Given the description of an element on the screen output the (x, y) to click on. 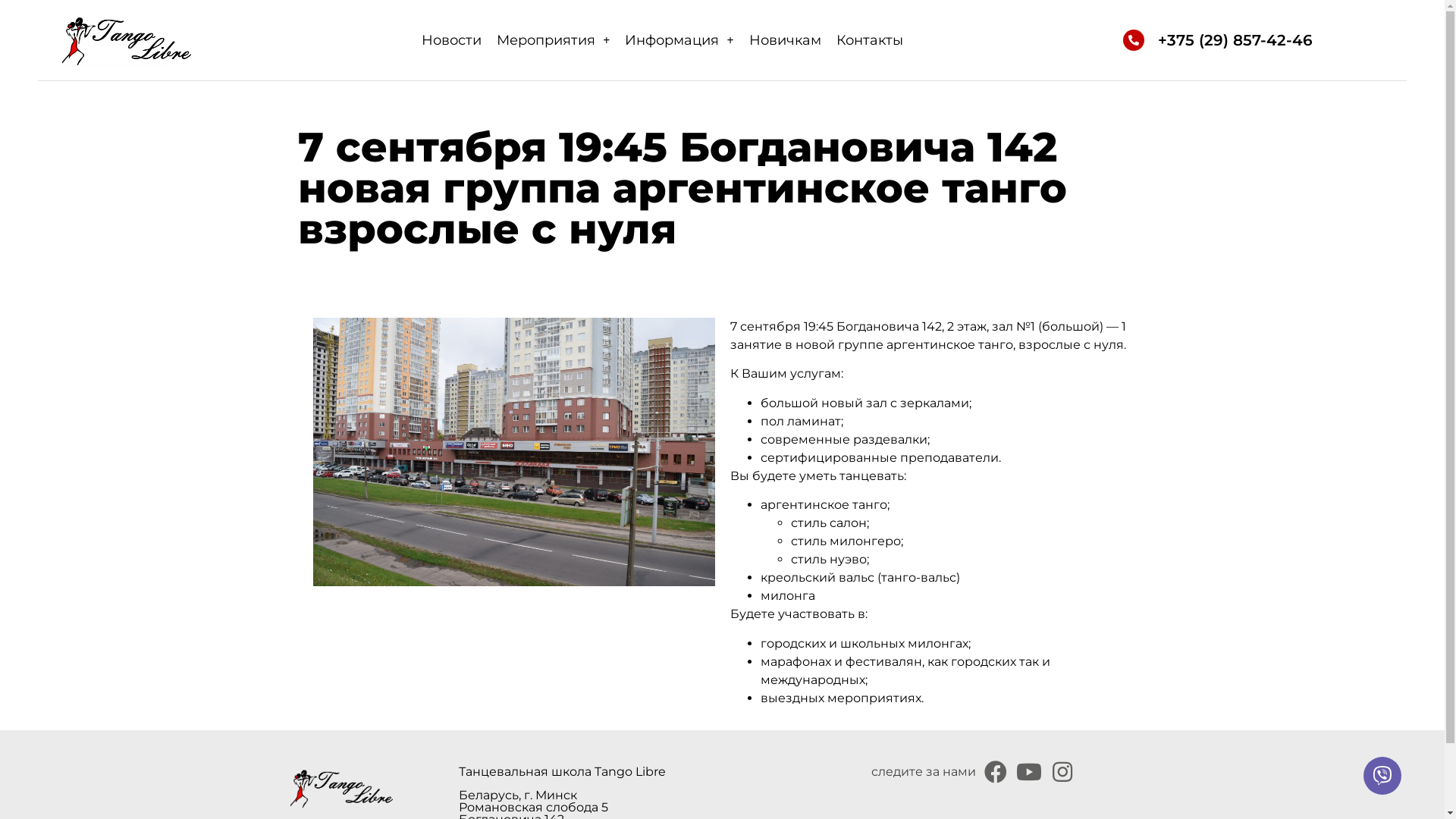
+375 (29) 857-42-46 Element type: text (1234, 40)
